Given the description of an element on the screen output the (x, y) to click on. 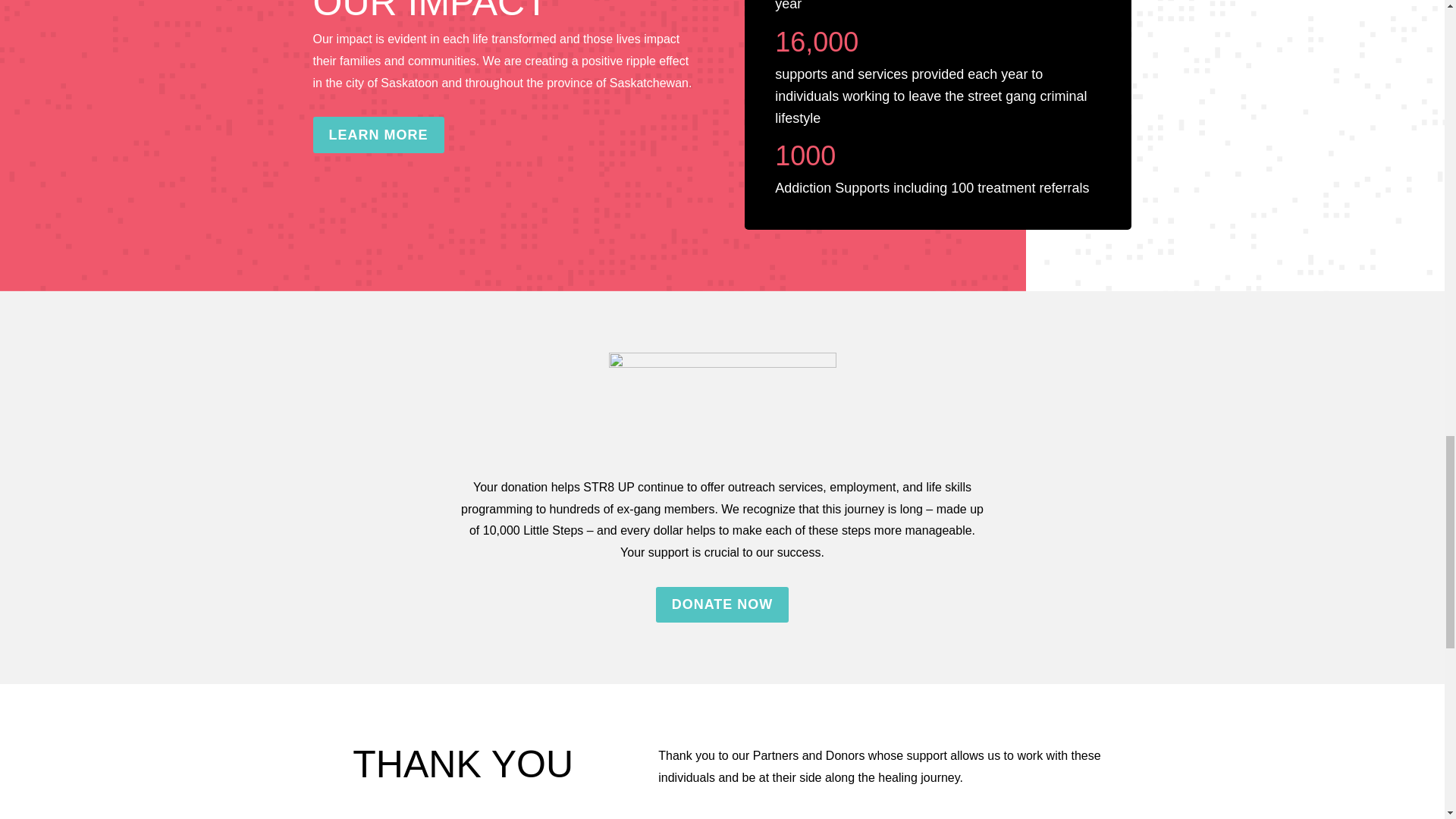
Donate (721, 403)
LEARN MORE (378, 134)
DONATE NOW (722, 604)
